Given the description of an element on the screen output the (x, y) to click on. 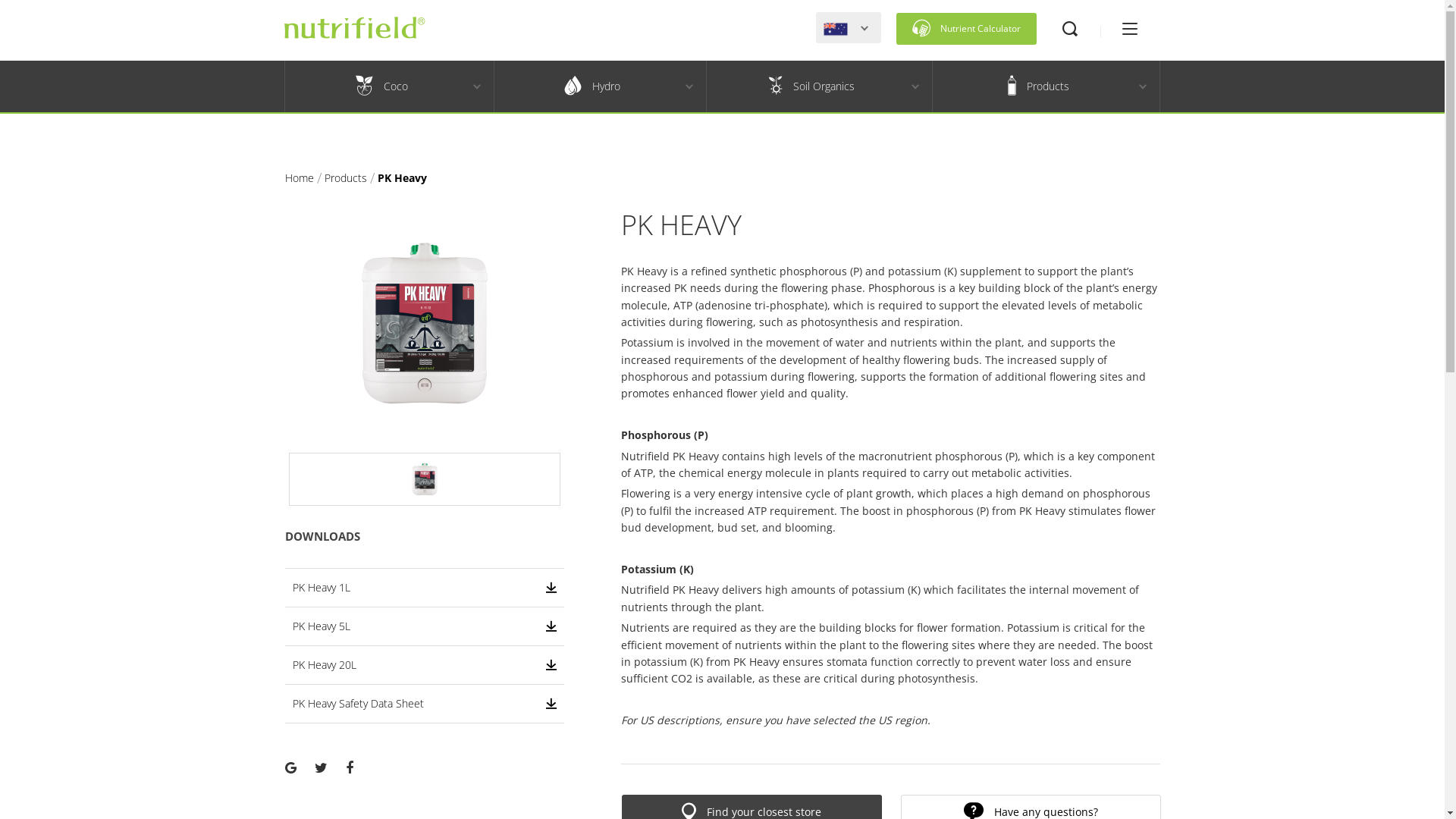
Products Element type: text (345, 177)
Soil Organics Element type: text (811, 86)
Nutrient Calculator Element type: text (966, 28)
PK Heavy 1L Element type: text (424, 587)
PK Heavy 20L Element type: text (424, 665)
Hydro Element type: text (592, 86)
Coco Element type: text (381, 86)
PK Heavy 5L Element type: text (424, 626)
PK Heavy Safety Data Sheet Element type: text (424, 703)
Products Element type: text (1037, 86)
Home Element type: text (299, 177)
